Given the description of an element on the screen output the (x, y) to click on. 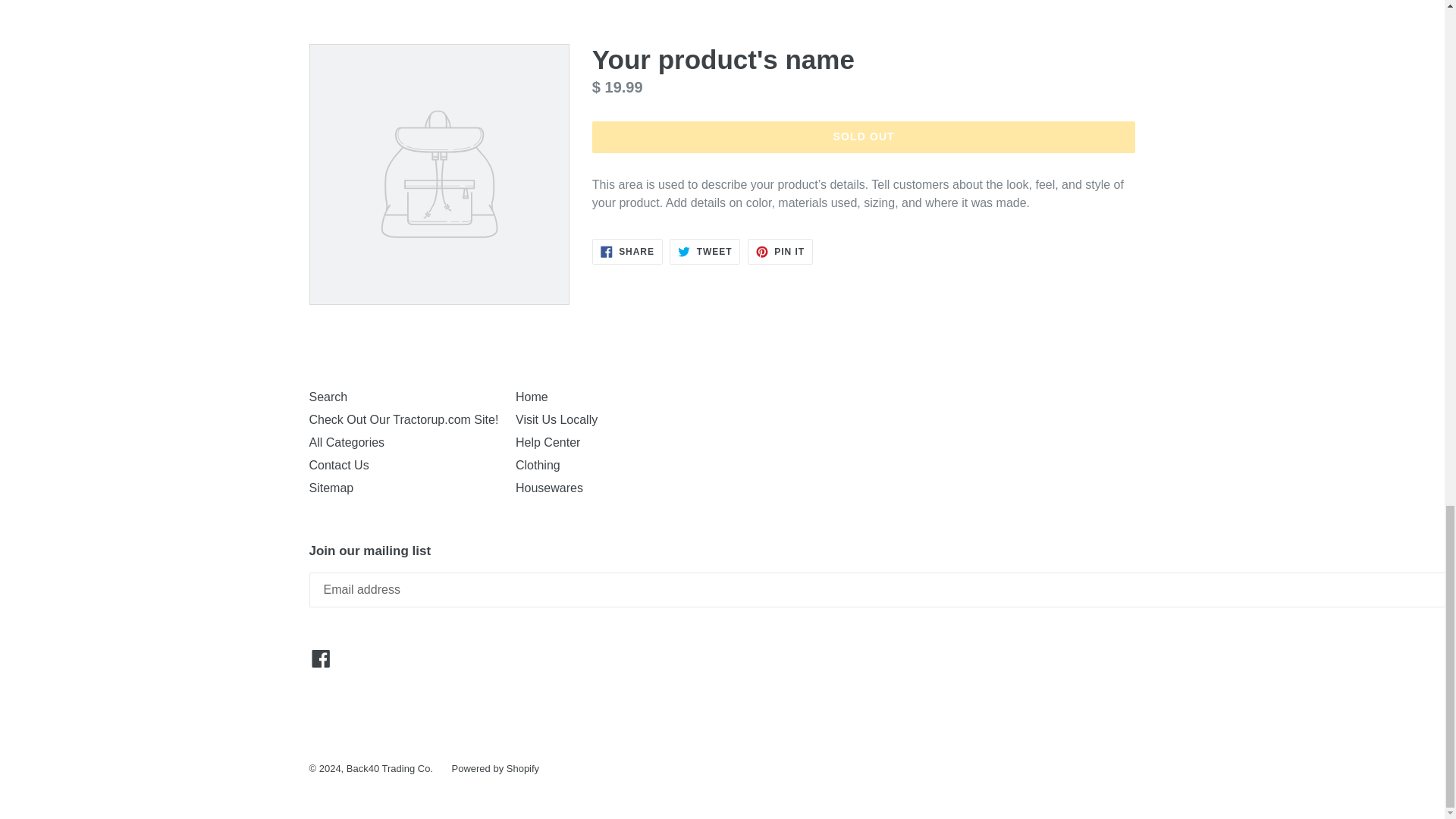
Back40 Trading Co. on Facebook (320, 658)
All Categories (346, 441)
Check Out Our Tractorup.com Site! (627, 251)
Contact Us (403, 419)
SOLD OUT (704, 251)
Pin on Pinterest (338, 464)
Share on Facebook (863, 137)
